Given the description of an element on the screen output the (x, y) to click on. 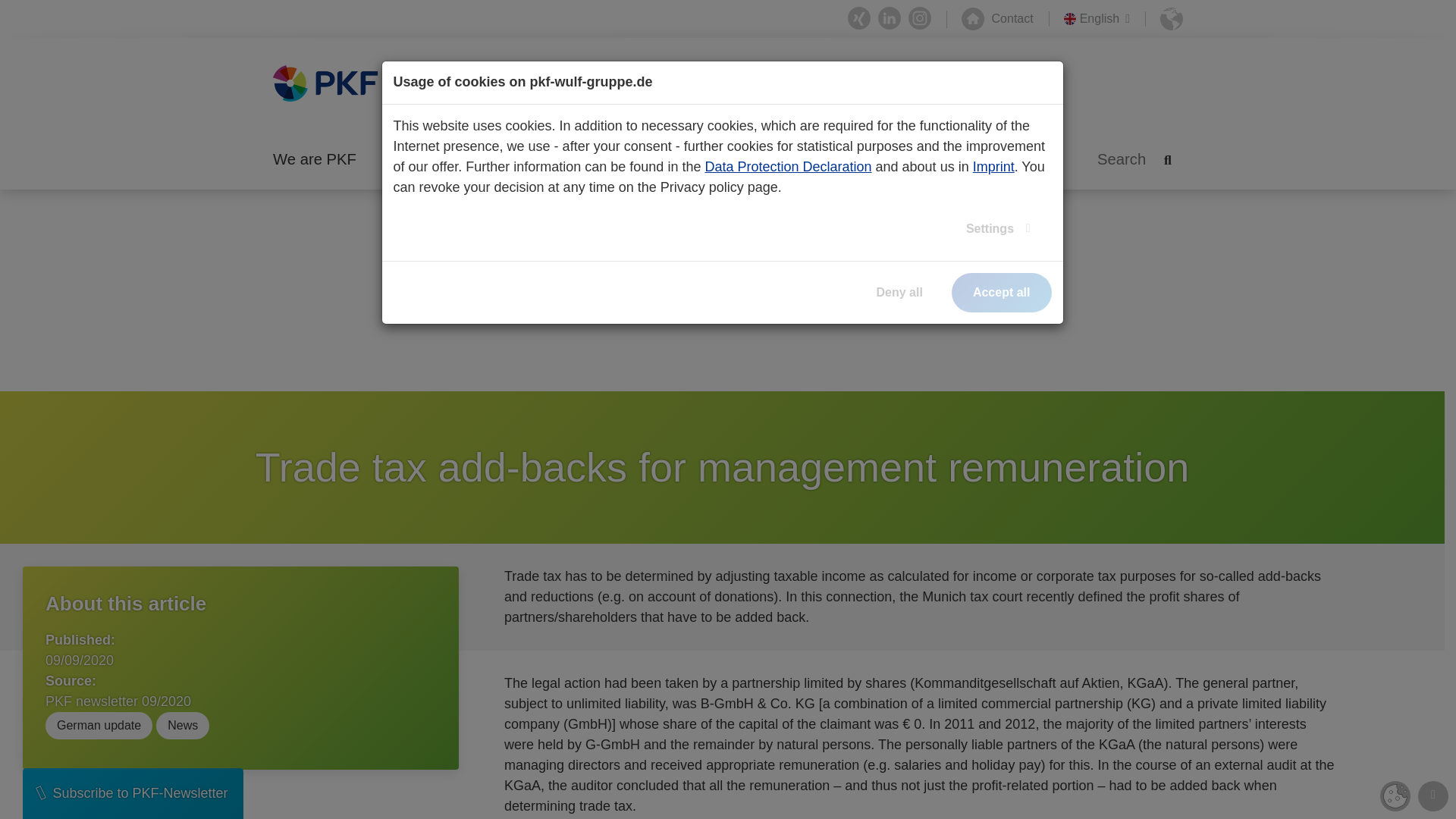
go to page PKF Wulf Gruppe (53, 397)
Back to top of page (1433, 796)
Click here for Cookie-Settings (1395, 796)
PKF International (1171, 18)
